Given the description of an element on the screen output the (x, y) to click on. 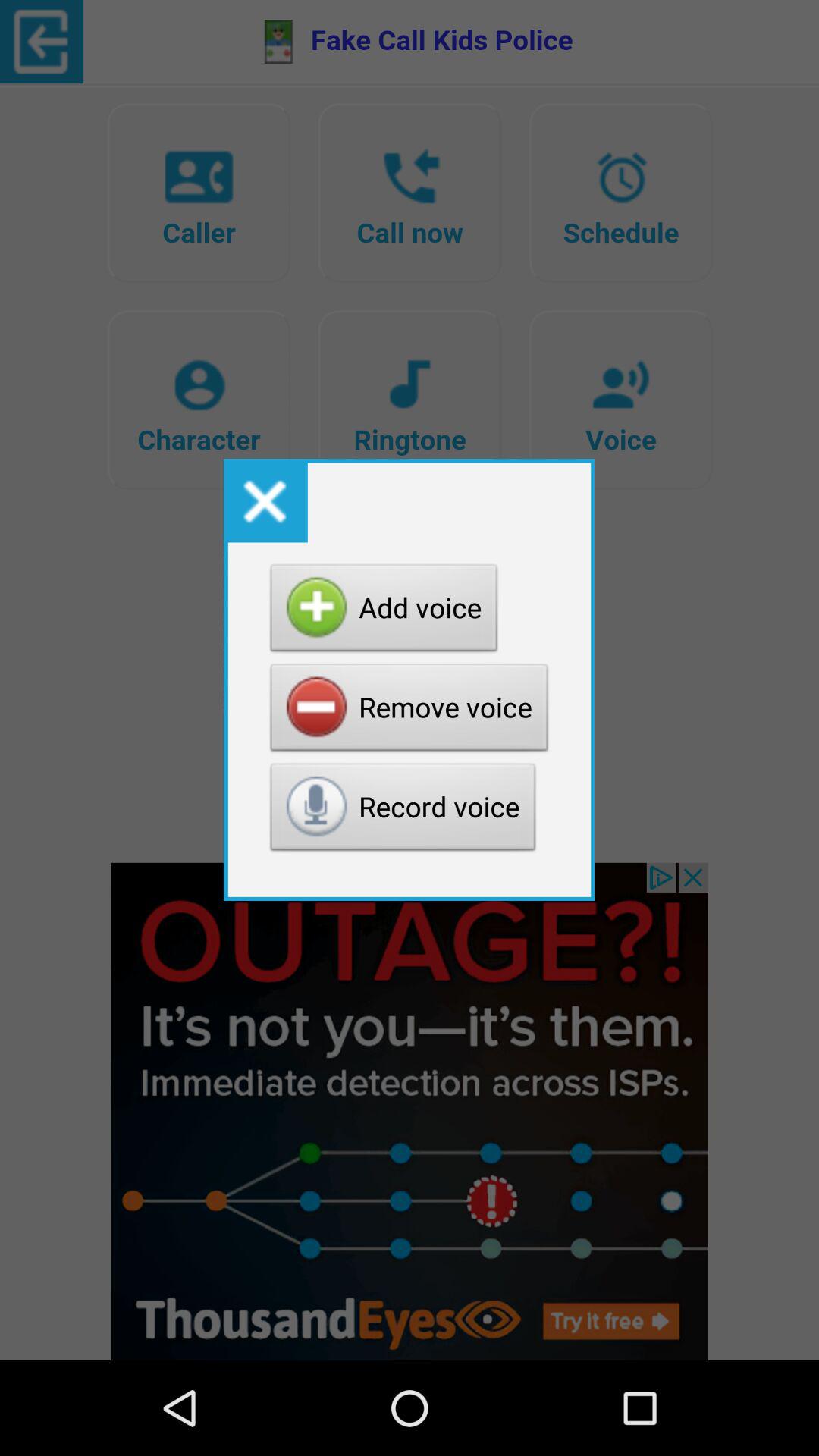
turn off remove voice button (409, 711)
